Given the description of an element on the screen output the (x, y) to click on. 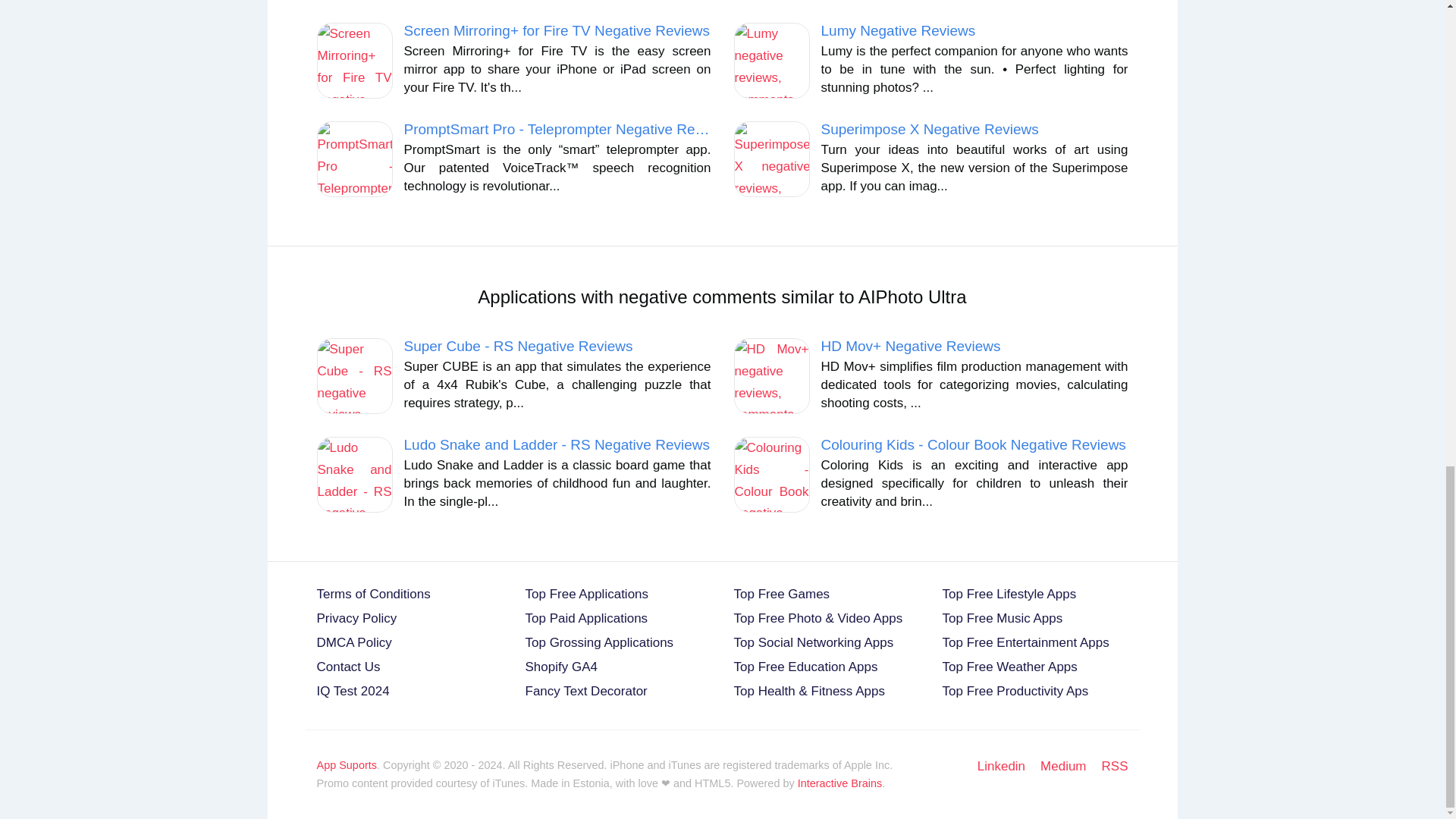
Lumy Negative Reviews (898, 30)
